Given the description of an element on the screen output the (x, y) to click on. 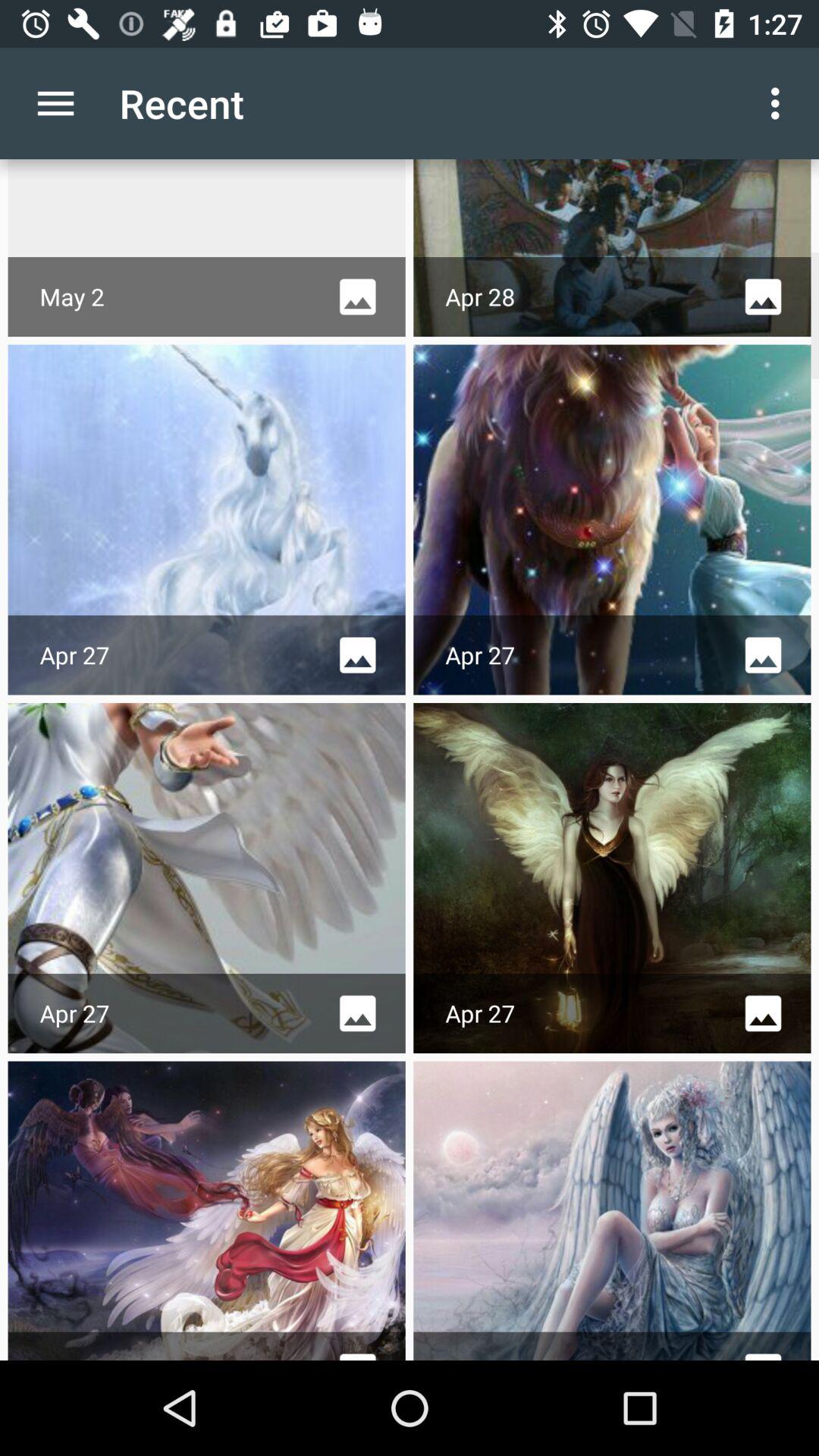
press the app to the left of the recent app (55, 103)
